Given the description of an element on the screen output the (x, y) to click on. 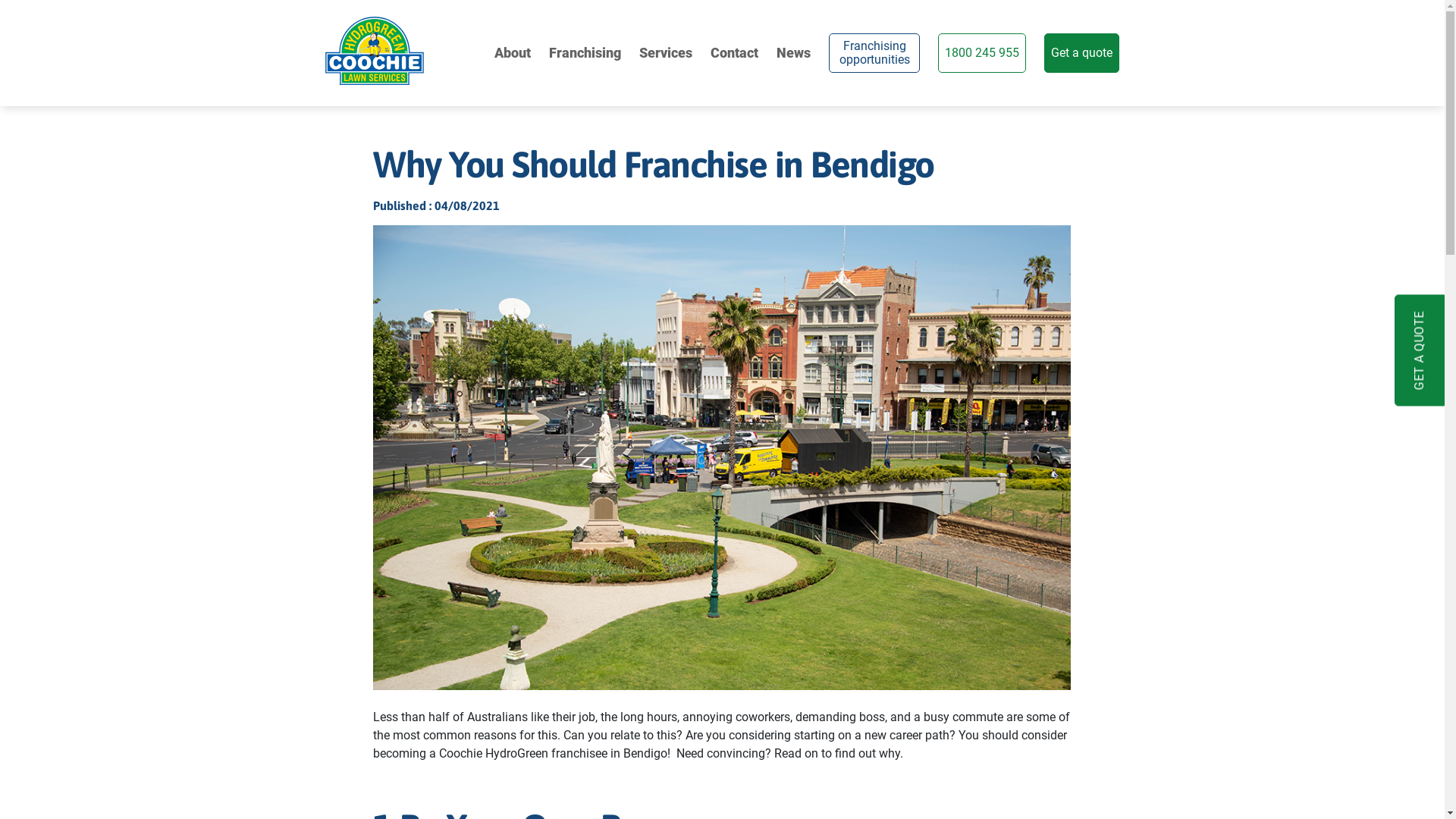
Franchising opportunities Element type: text (873, 52)
About Element type: text (512, 53)
GET A QUOTE Element type: text (1419, 350)
Get a quote Element type: text (1081, 52)
Franchising Element type: text (585, 53)
1800 245 955 Element type: text (982, 52)
Contact Element type: text (734, 53)
News Element type: text (793, 53)
Services Element type: text (665, 53)
